Given the description of an element on the screen output the (x, y) to click on. 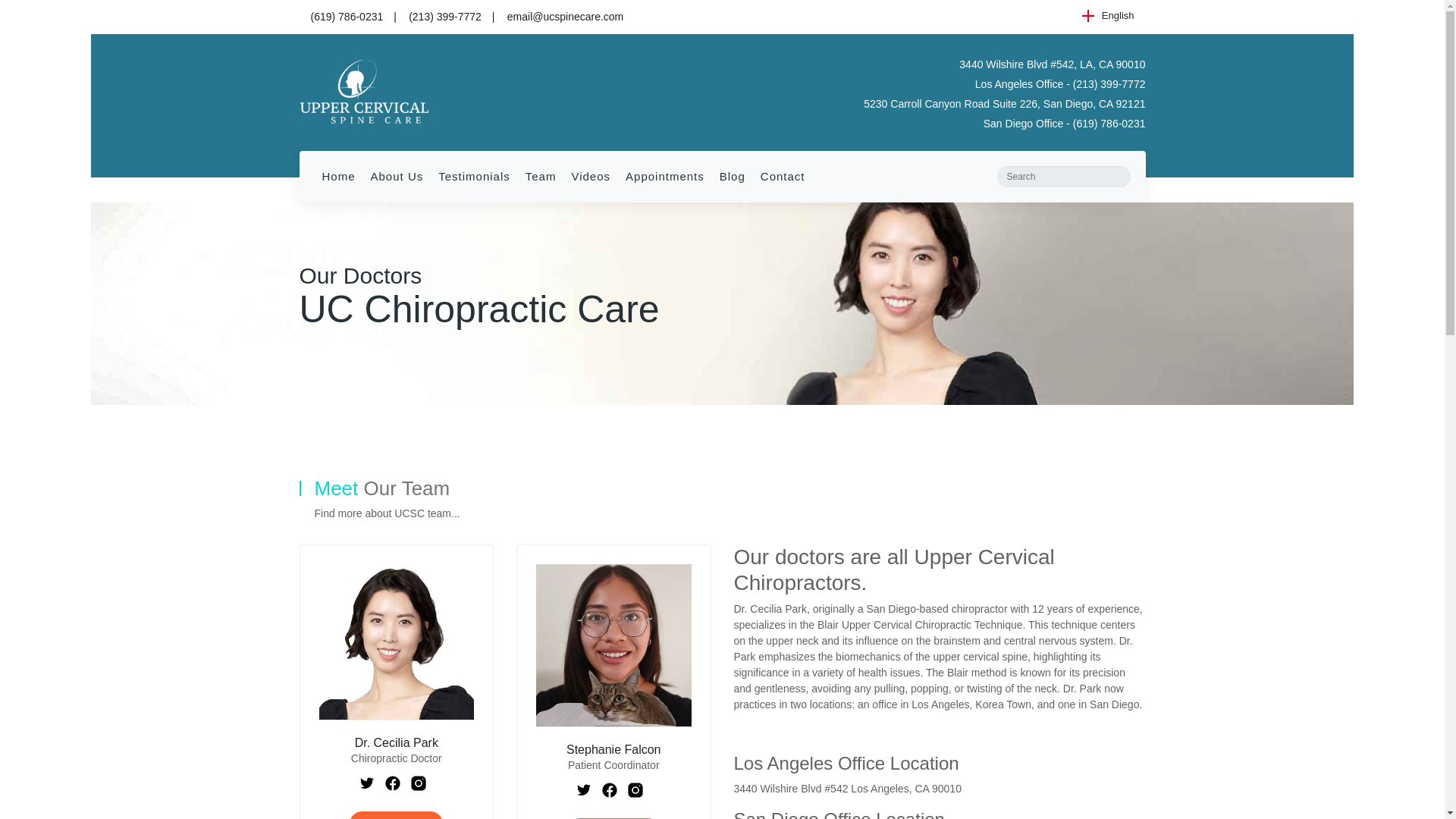
Find Out More (395, 815)
Contact (782, 176)
About Us (396, 176)
Appointments (664, 176)
Team (541, 176)
Home (338, 176)
Testimonials (474, 176)
Videos (590, 176)
